Given the description of an element on the screen output the (x, y) to click on. 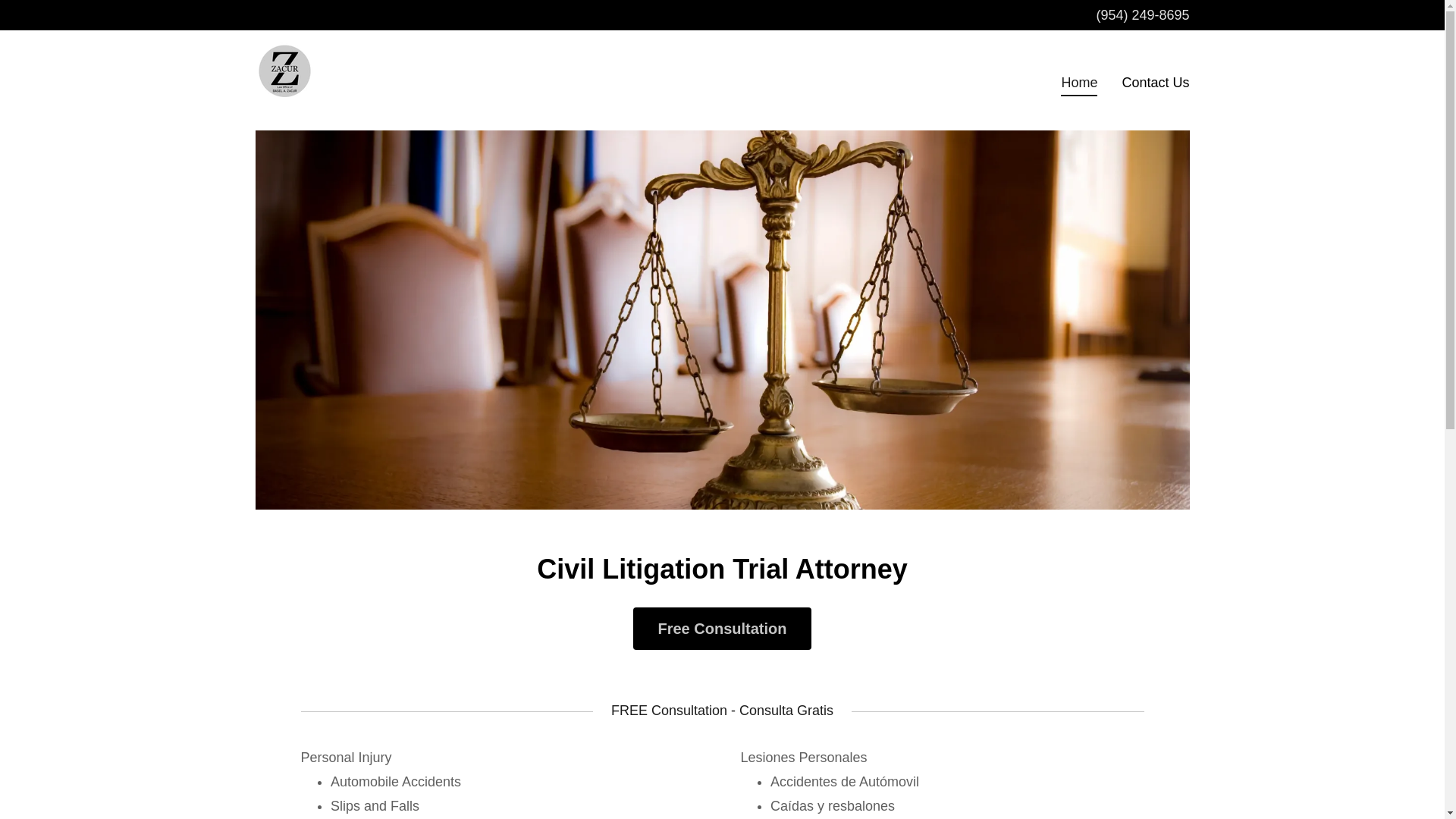
Home (1079, 84)
Contact Us (1154, 81)
Free Consultation (721, 628)
Law Office of Basel A. Zacur, LLC (283, 79)
